Given the description of an element on the screen output the (x, y) to click on. 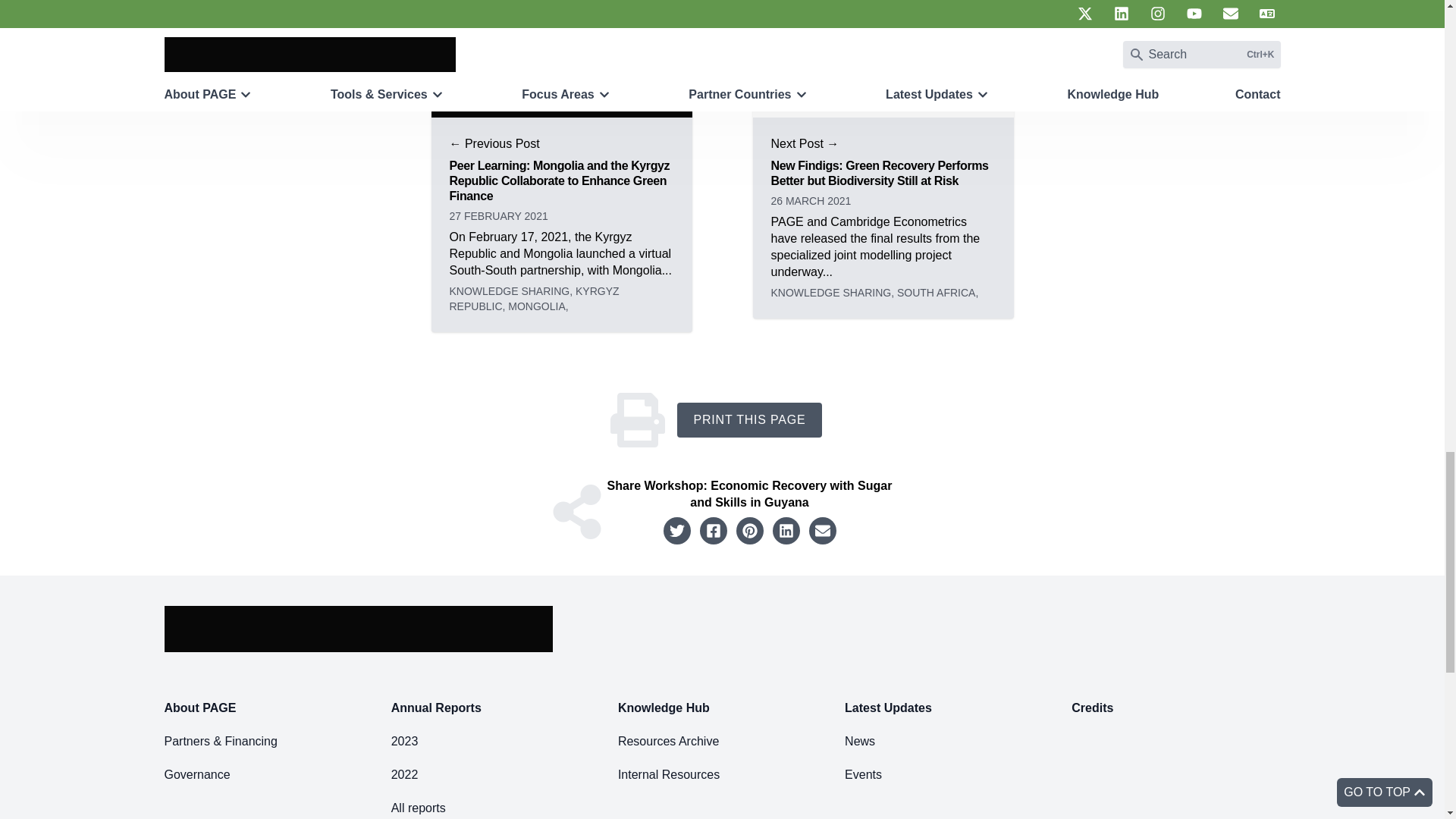
PRINT THIS PAGE (749, 419)
About PAGE (199, 708)
2023 (405, 741)
Governance (196, 774)
2022 (405, 774)
Annual Reports (436, 708)
All reports (418, 808)
